Given the description of an element on the screen output the (x, y) to click on. 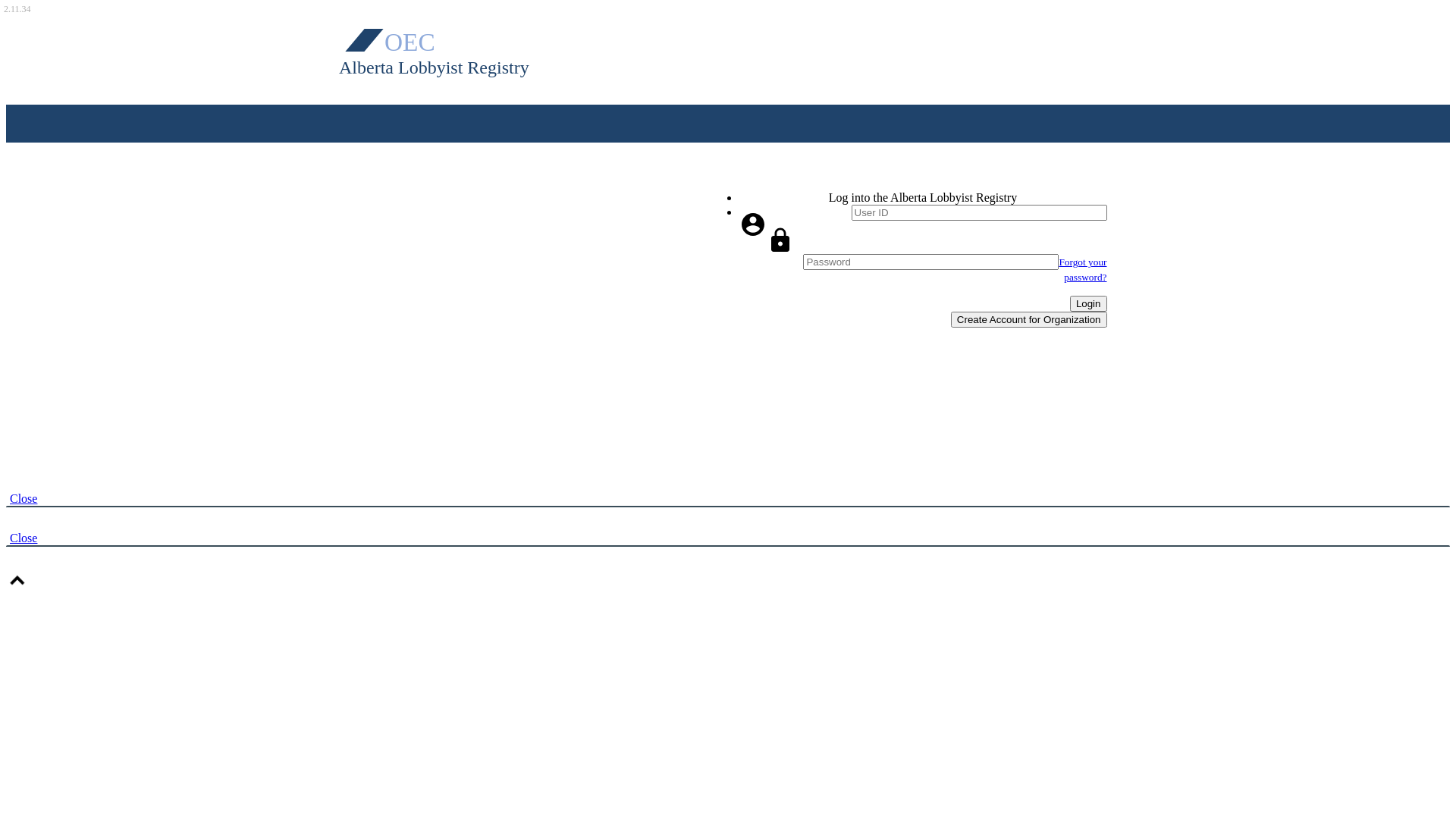
Forgot your password? Element type: text (1082, 269)
Close Element type: text (23, 538)
OEC
Alberta Lobbyist Registry Element type: text (452, 48)
Create Account for Organization Element type: text (1028, 319)
Enter your User ID. Element type: hover (978, 212)
Login Element type: text (1088, 303)
Close Element type: text (23, 498)
Enter your password. Passwords are case sensitive. Element type: hover (930, 261)
